Given the description of an element on the screen output the (x, y) to click on. 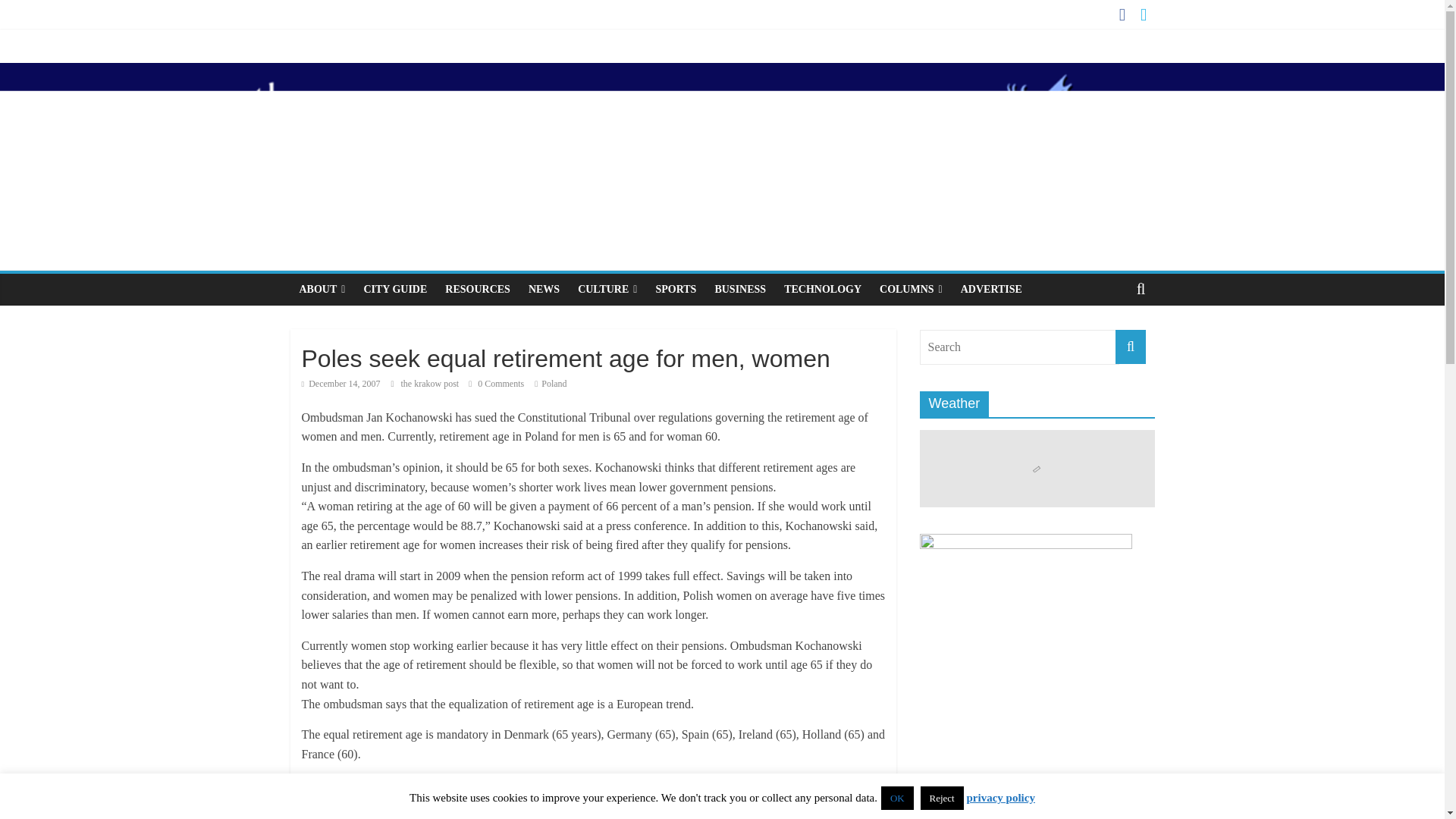
TECHNOLOGY (822, 289)
11:02 pm (340, 383)
BUSINESS (739, 289)
CULTURE (607, 289)
CITY GUIDE (394, 289)
the krakow post (430, 383)
RESOURCES (477, 289)
ABOUT (321, 289)
SPORTS (675, 289)
NEWS (544, 289)
